Given the description of an element on the screen output the (x, y) to click on. 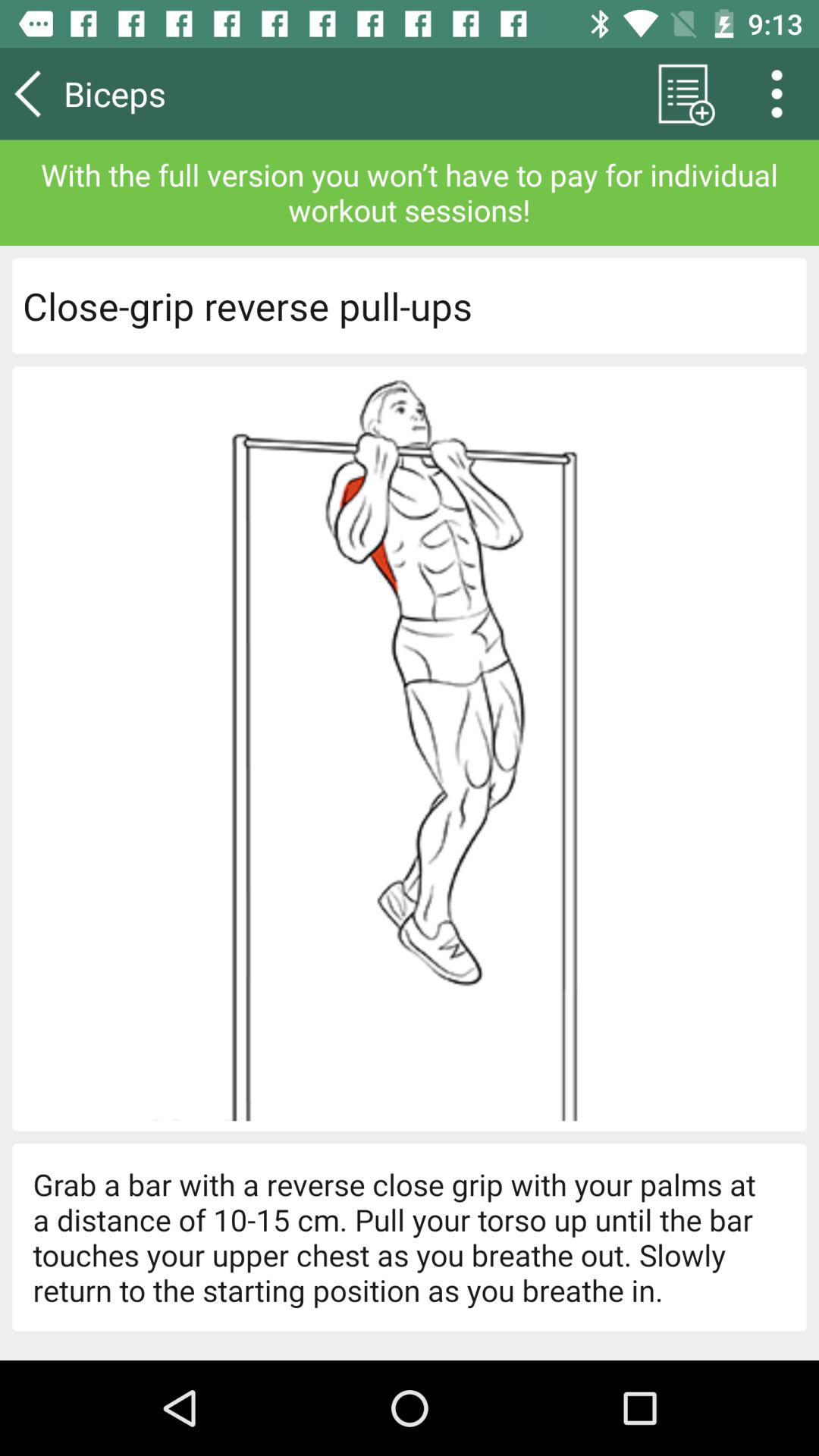
tap item to the right of biceps app (682, 93)
